Given the description of an element on the screen output the (x, y) to click on. 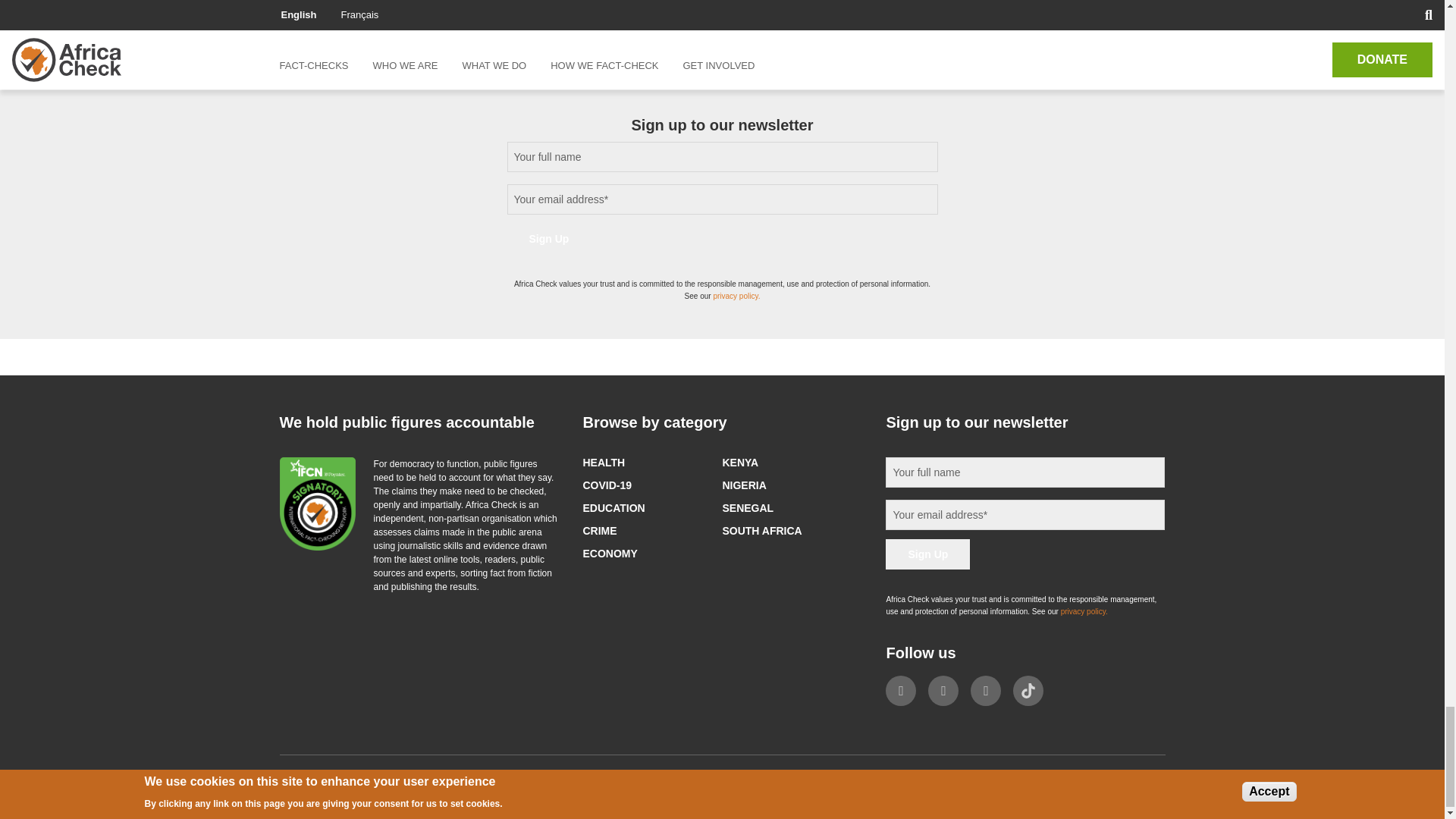
Sign Up (548, 238)
Sign Up (927, 553)
Save (319, 2)
